Given the description of an element on the screen output the (x, y) to click on. 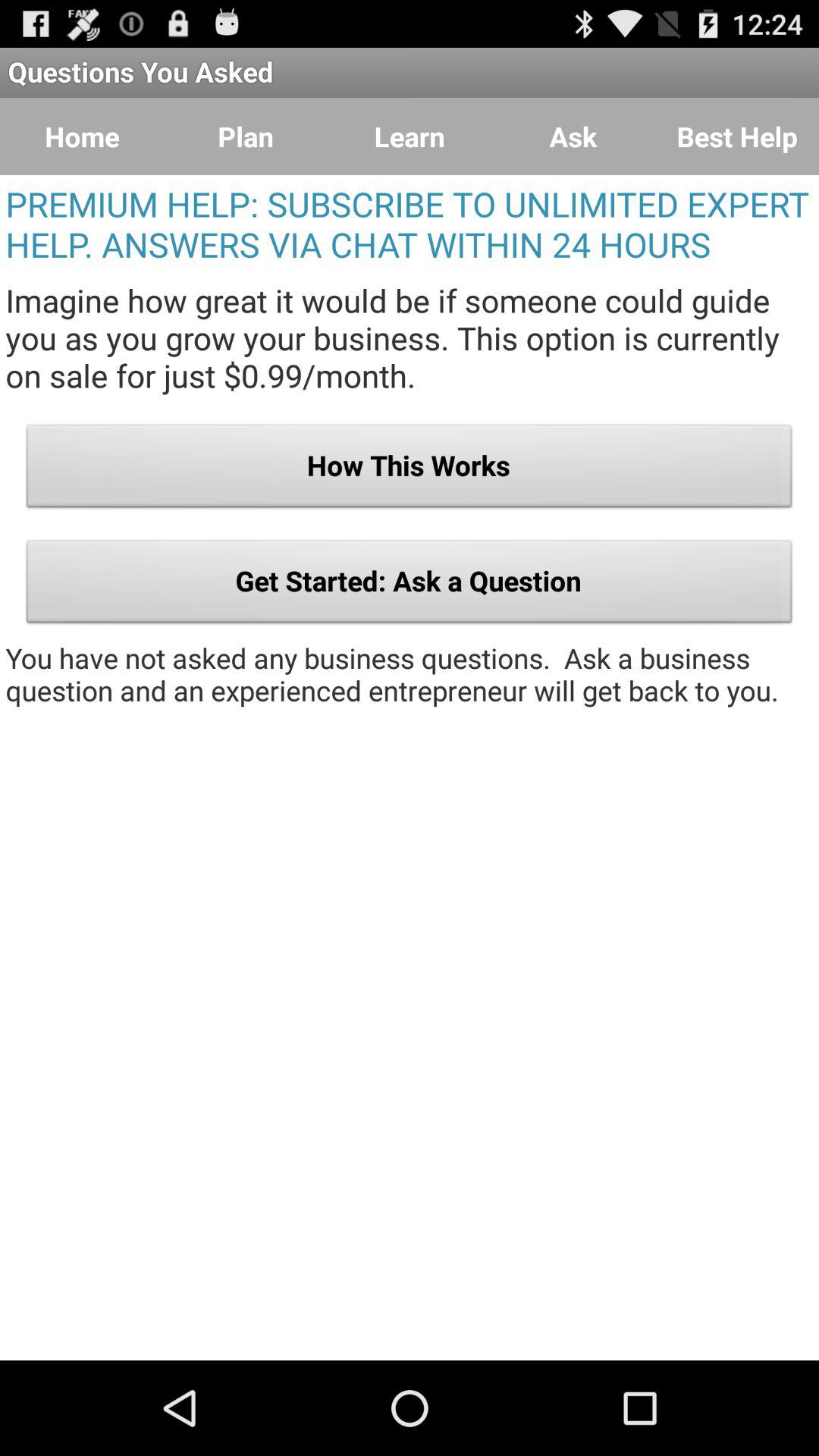
select button to the right of home (245, 136)
